Given the description of an element on the screen output the (x, y) to click on. 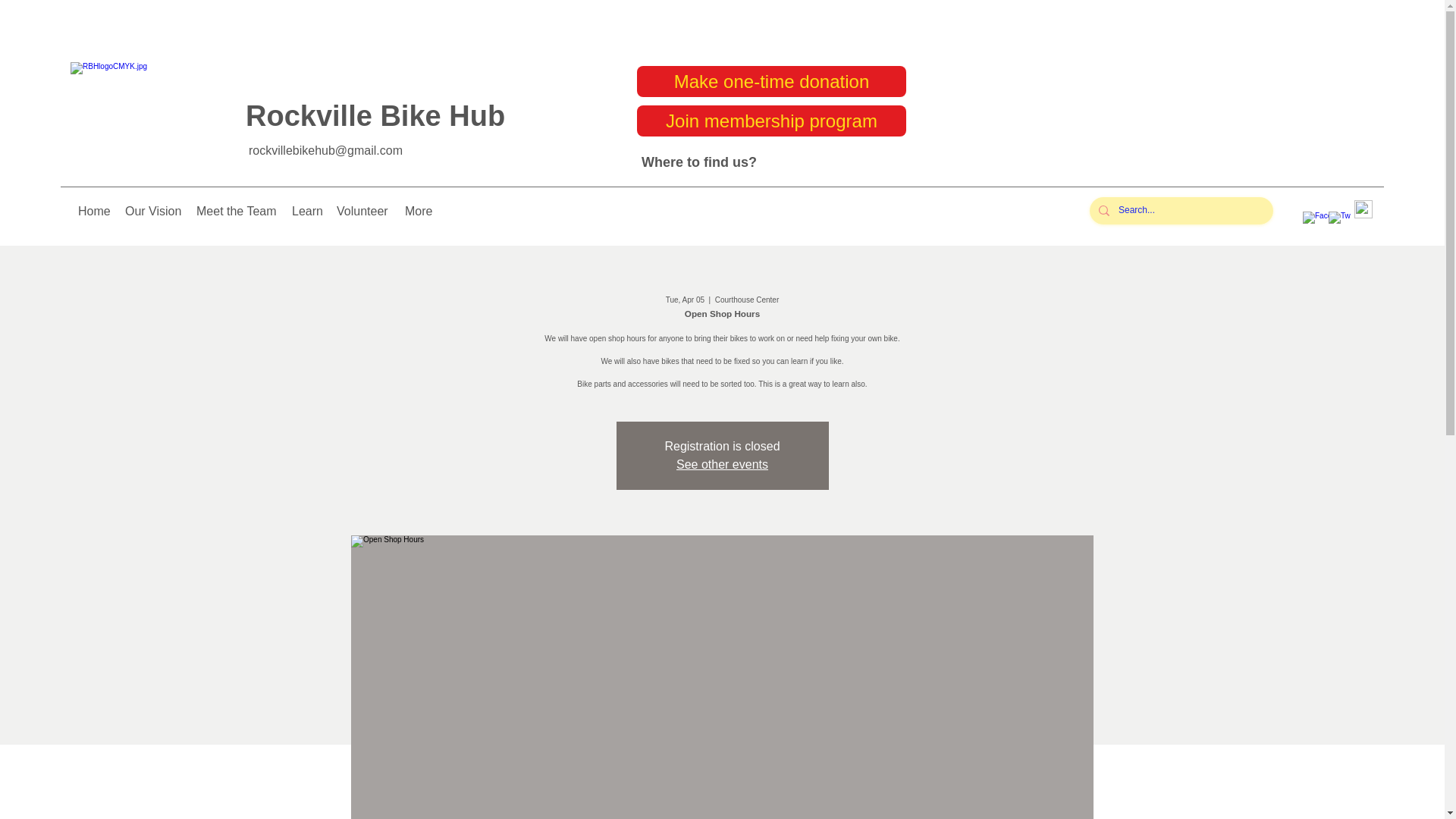
Meet the Team (236, 210)
Volunteer (363, 210)
Join membership program (771, 120)
Where to find us? (699, 161)
Make one-time donation (771, 81)
Our Vision (153, 210)
Rockville Bike Hub (375, 115)
Home (93, 210)
Learn (306, 210)
See other events (722, 463)
